Given the description of an element on the screen output the (x, y) to click on. 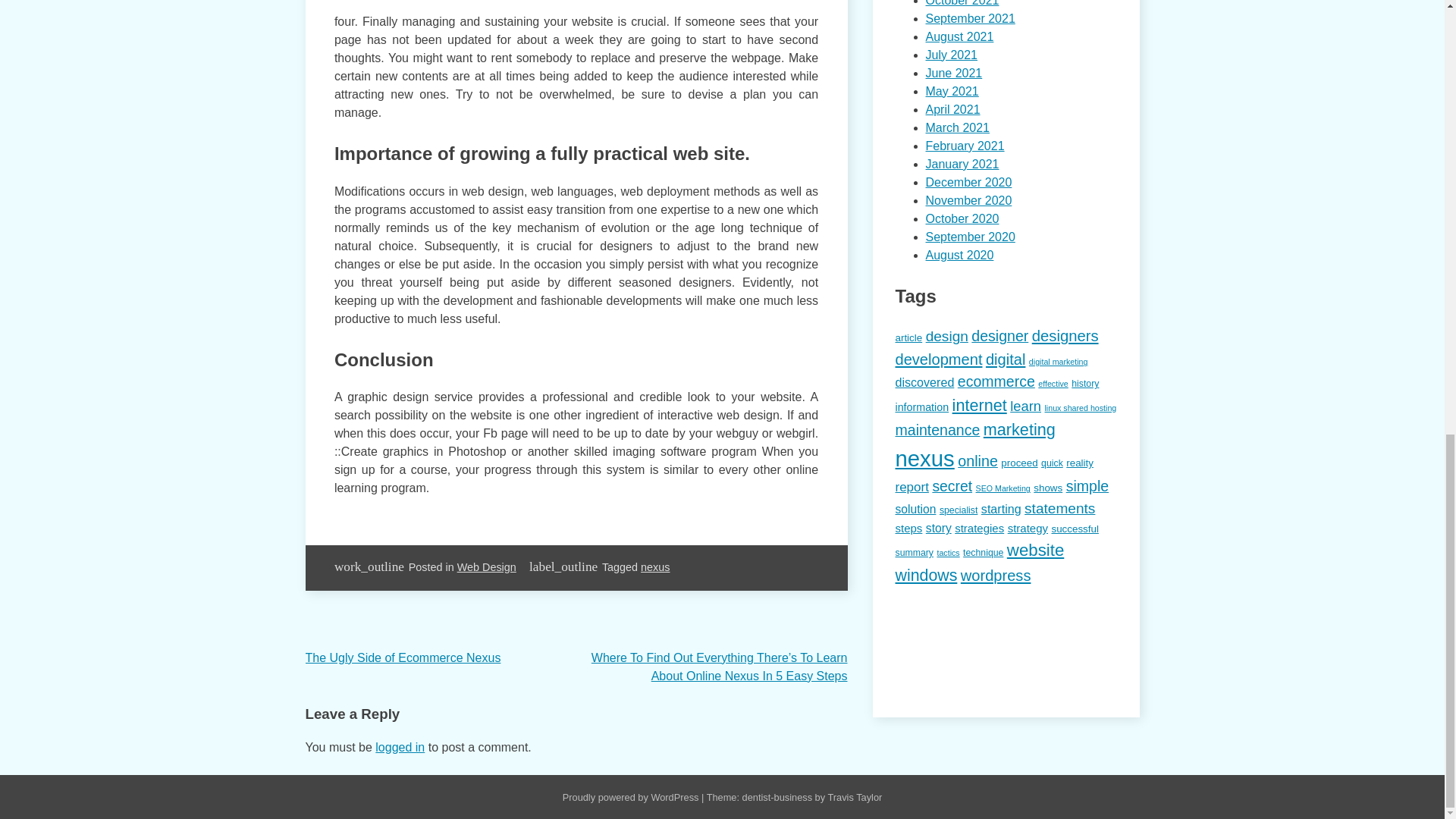
March 2021 (957, 127)
July 2021 (950, 54)
The Ugly Side of Ecommerce Nexus (402, 657)
February 2021 (964, 145)
April 2021 (951, 109)
October 2021 (961, 3)
June 2021 (952, 72)
August 2021 (958, 36)
nexus (654, 567)
September 2021 (969, 18)
